Given the description of an element on the screen output the (x, y) to click on. 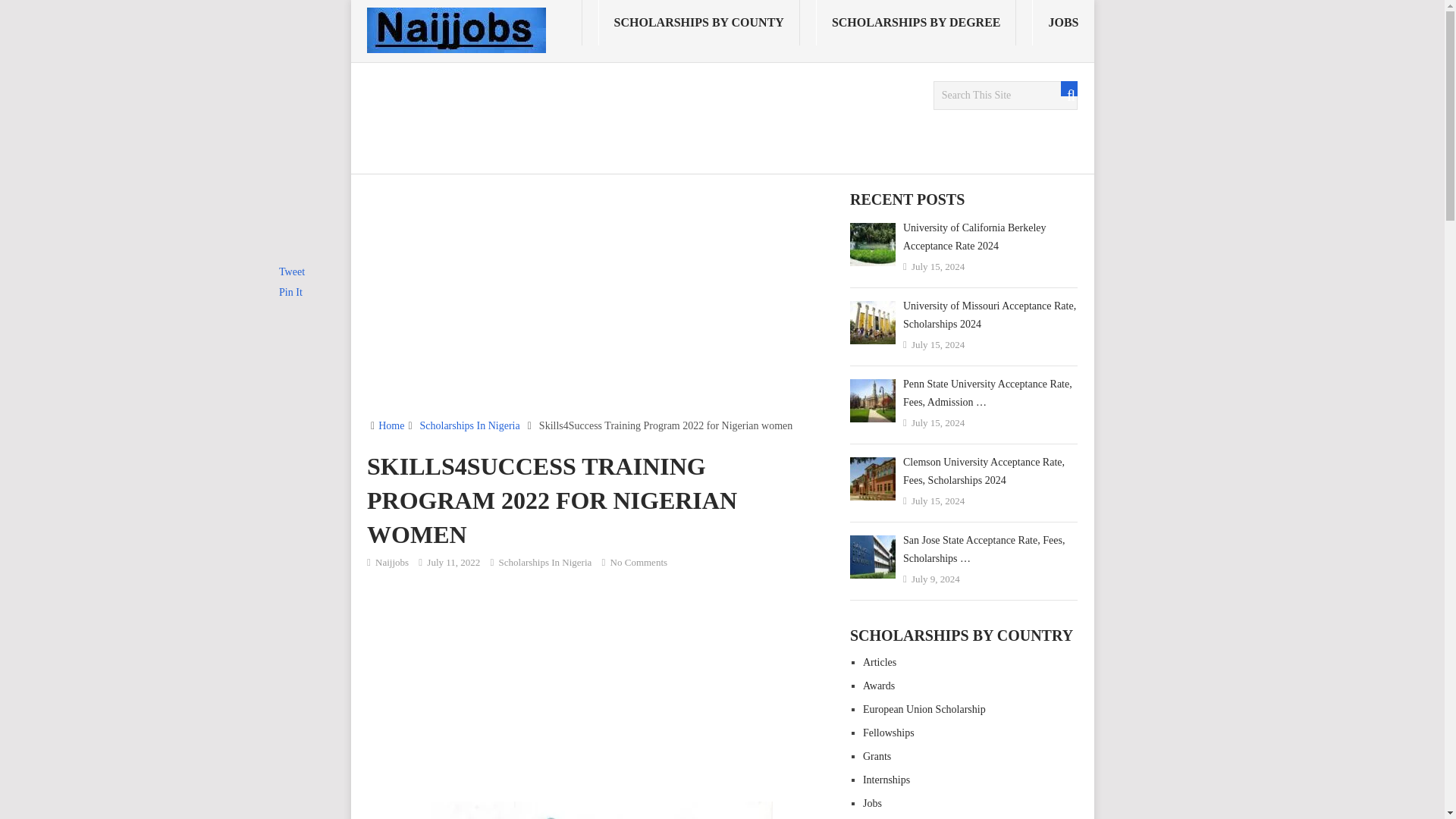
SCHOLARSHIPS BY DEGREE (915, 22)
Posts by Naijjobs (392, 562)
Scholarships In Nigeria (469, 425)
Advertisement (601, 684)
Skills4Success Training Program 2022 for Nigerian women (601, 810)
Scholarships In Nigeria (545, 562)
Naijjobs (392, 562)
SCHOLARSHIPS BY COUNTY (698, 22)
JOBS (1062, 22)
Tweet (291, 271)
No Comments (638, 562)
Advertisement (601, 305)
Home (391, 425)
View all posts in Scholarships In Nigeria (545, 562)
Advertisement (642, 115)
